Given the description of an element on the screen output the (x, y) to click on. 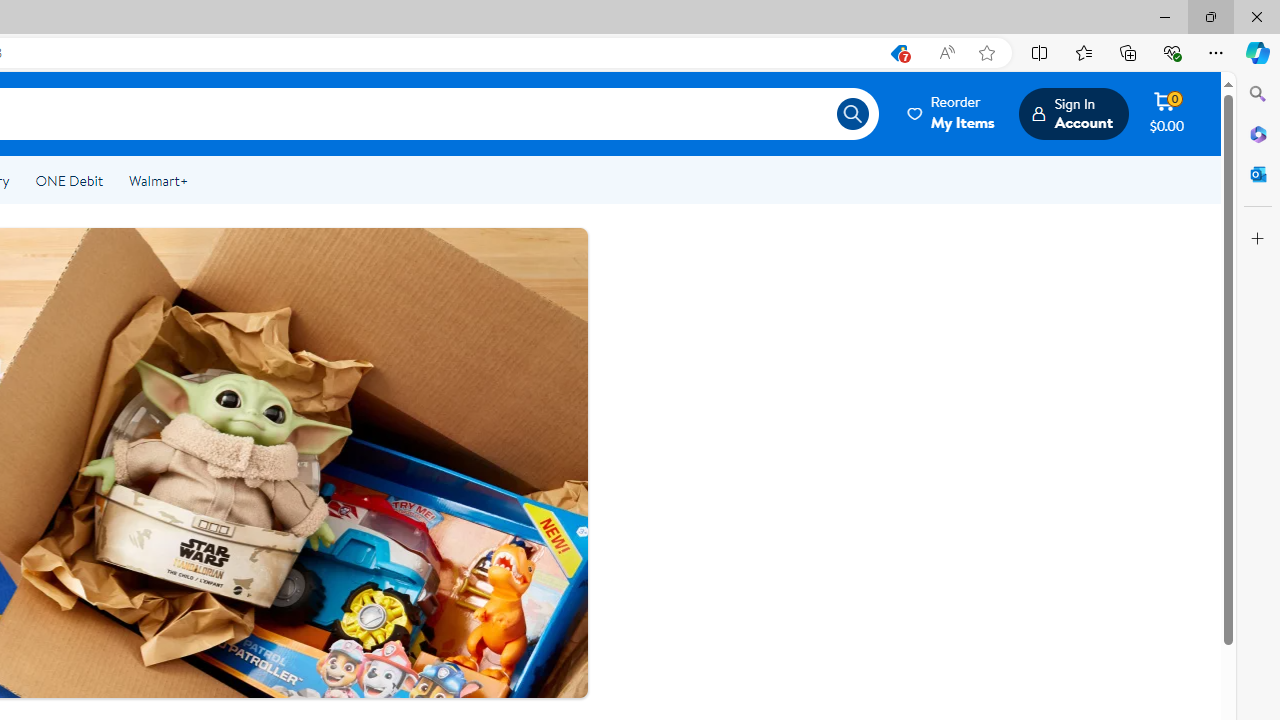
Sign In Account (1072, 113)
Walmart+ (158, 180)
Sign InAccount (1072, 113)
This site has coupons! Shopping in Microsoft Edge, 7 (898, 53)
Search icon (852, 113)
